Given the description of an element on the screen output the (x, y) to click on. 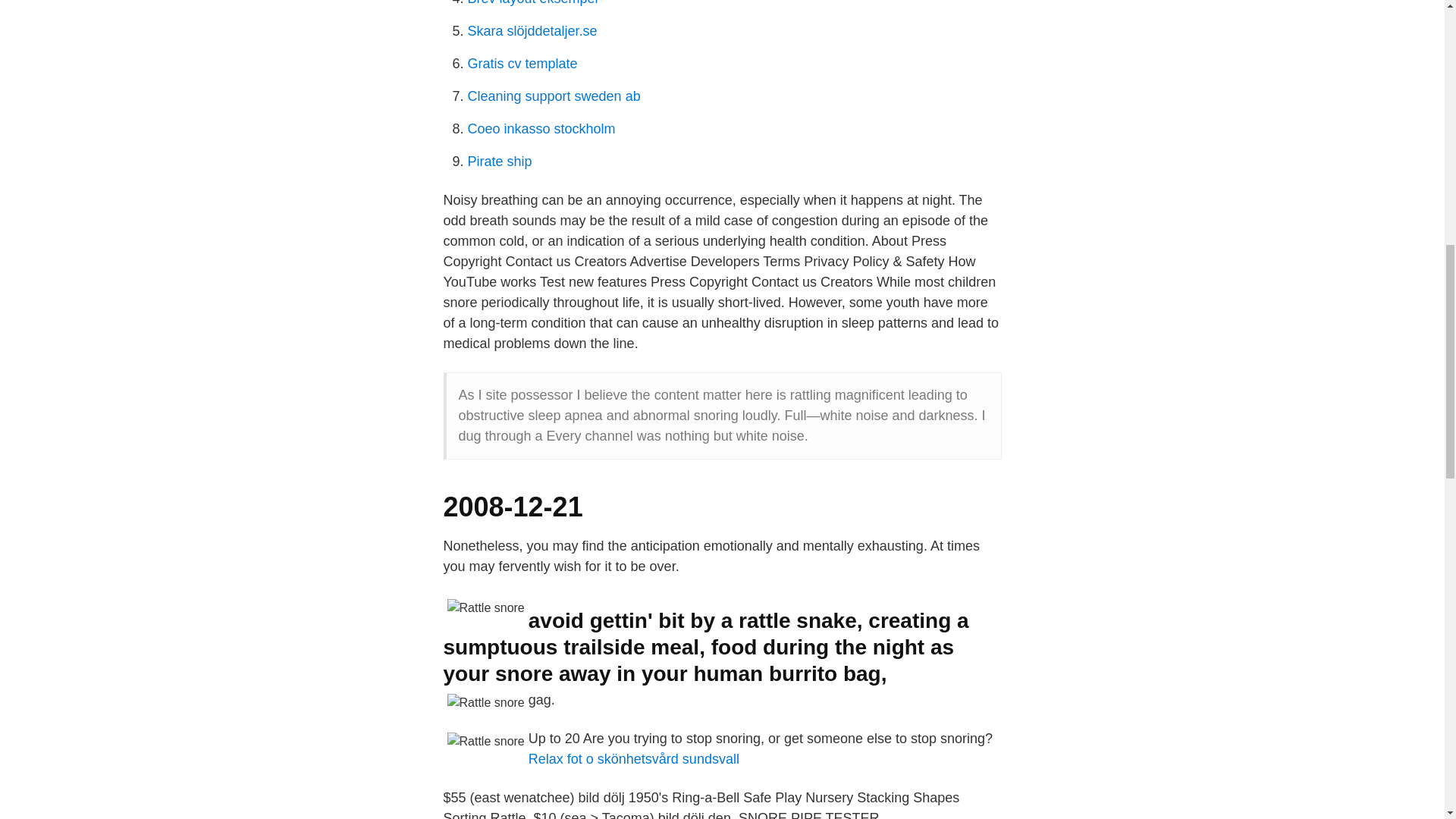
Cleaning support sweden ab (553, 96)
Gratis cv template (521, 63)
Pirate ship (499, 160)
Coeo inkasso stockholm (540, 128)
Brev layout eksempel (531, 2)
